Given the description of an element on the screen output the (x, y) to click on. 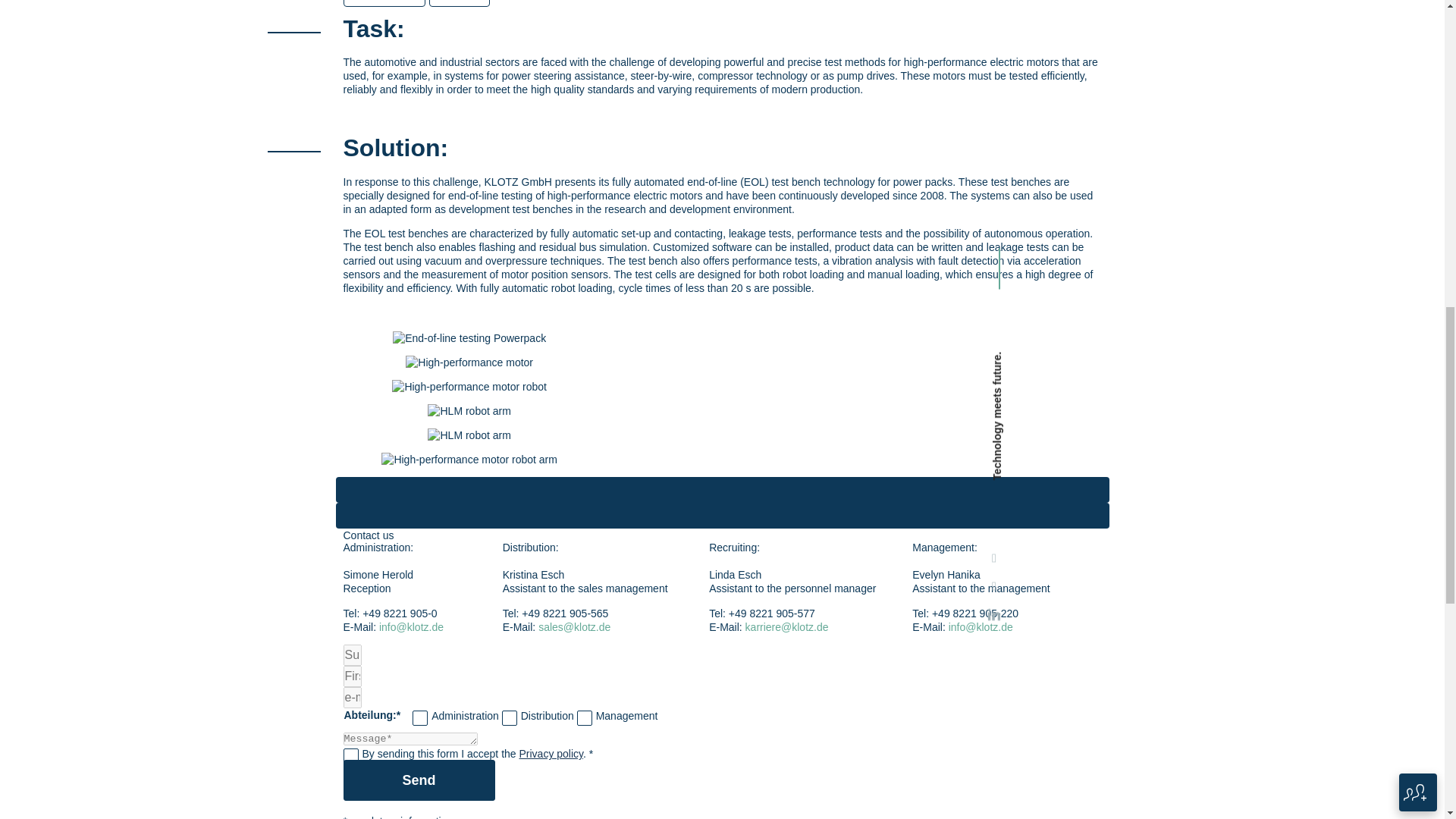
End-of-line testing Powerpack (469, 337)
HLM robot arm (469, 410)
High-performance motor robot (469, 386)
HLM robot arm (469, 435)
High-performance motor (469, 362)
High-performance motor robot arm (469, 459)
